Given the description of an element on the screen output the (x, y) to click on. 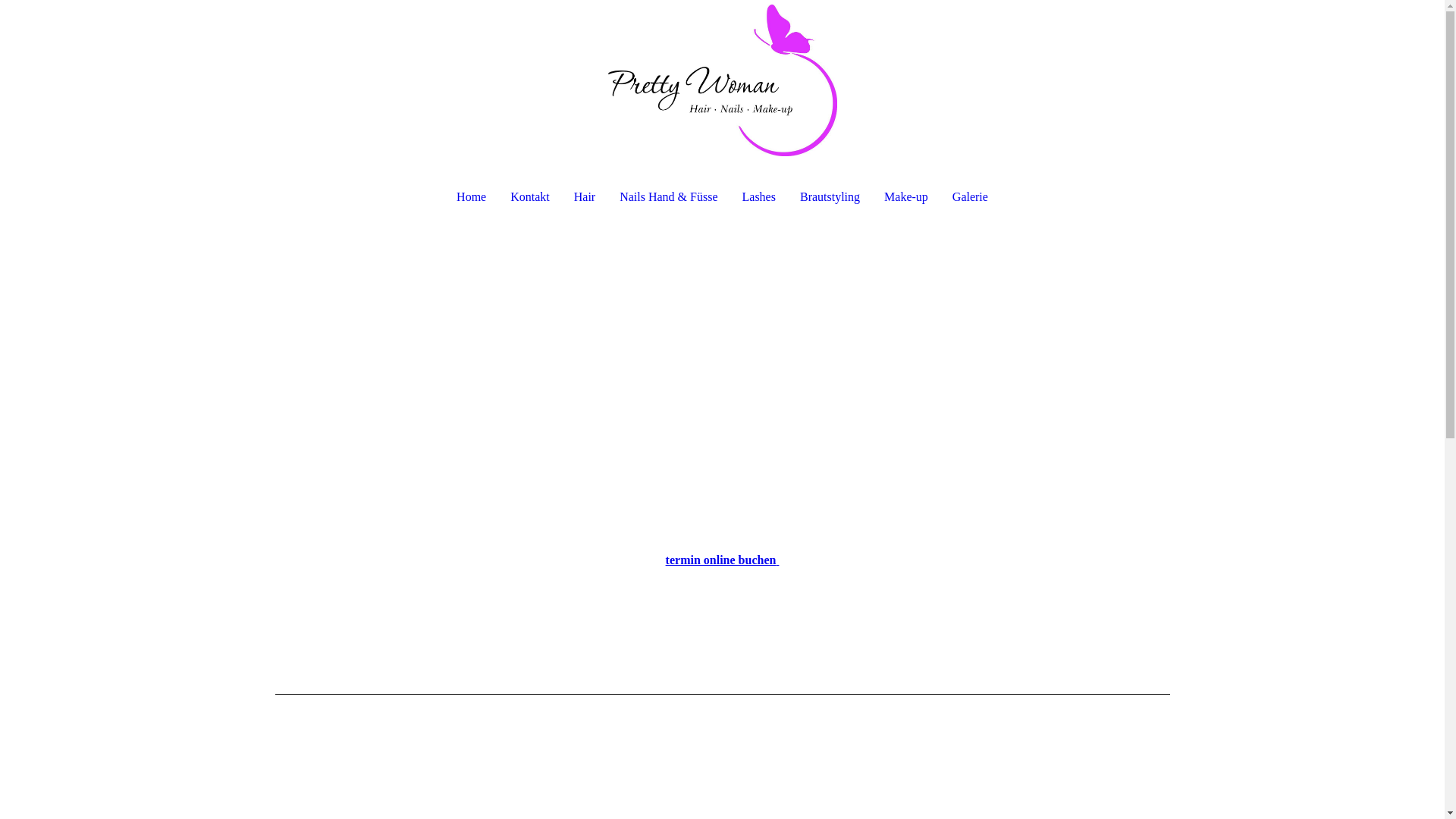
Lashes Element type: text (758, 196)
Kontakt Element type: text (529, 196)
Home Element type: text (465, 196)
termin online buchen  Element type: text (722, 559)
Make-up Element type: text (906, 196)
Galerie Element type: text (976, 196)
Hair Element type: text (584, 196)
Brautstyling Element type: text (829, 196)
